Given the description of an element on the screen output the (x, y) to click on. 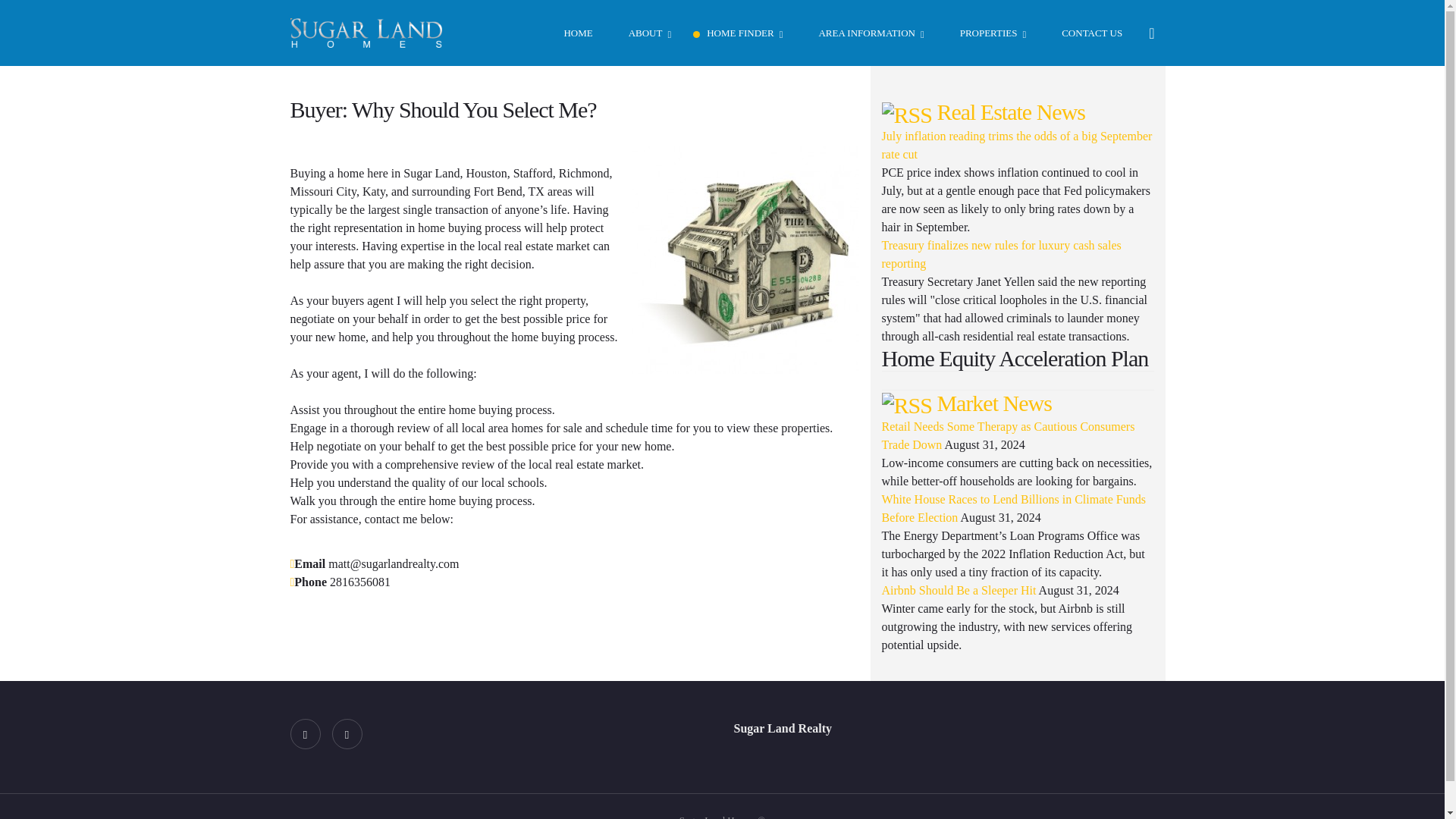
HOME FINDER (738, 33)
PROPERTIES (986, 33)
money-house (744, 259)
AREA INFORMATION (864, 33)
CONTACT US (1085, 33)
